Given the description of an element on the screen output the (x, y) to click on. 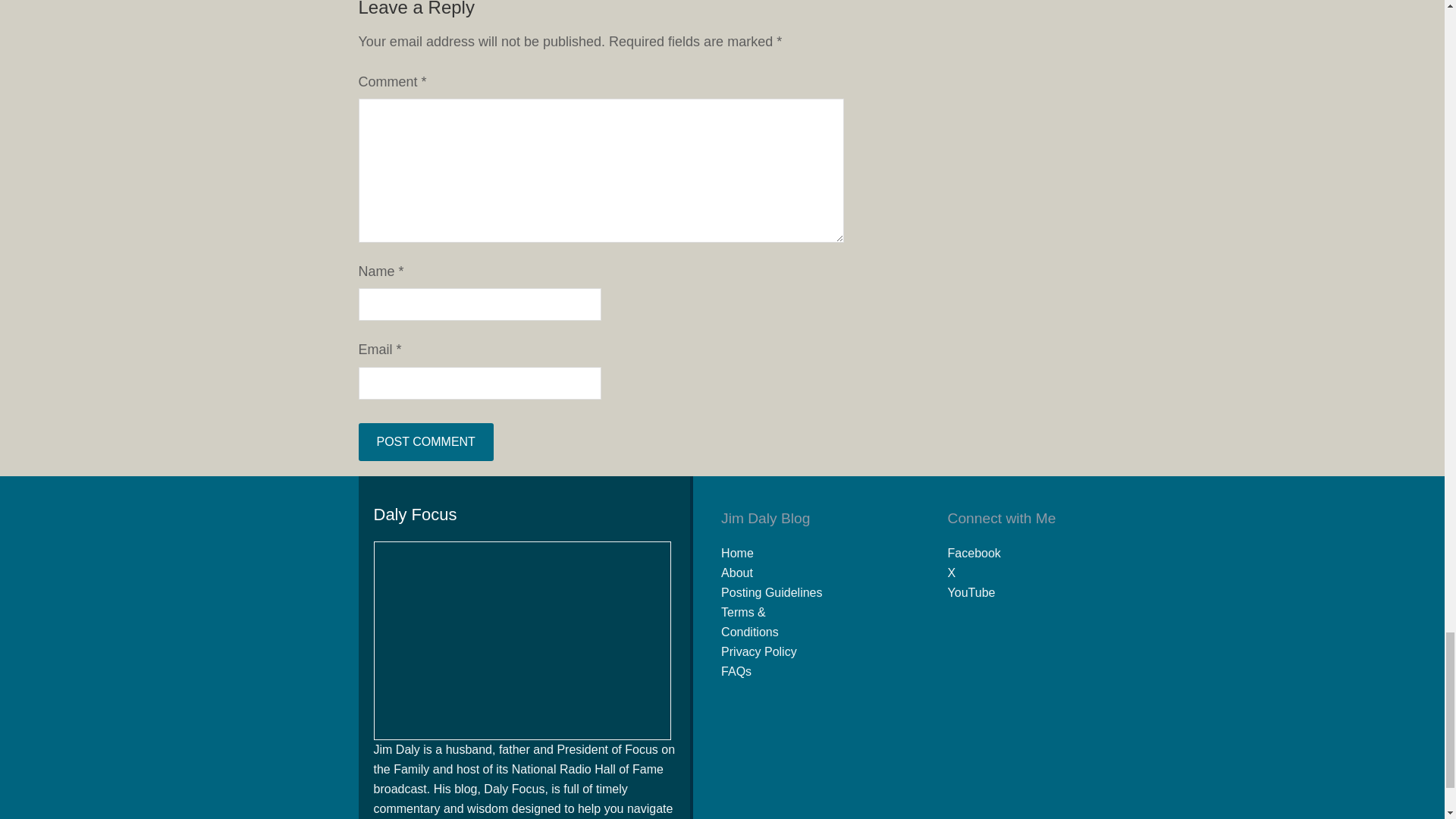
Post Comment (425, 442)
Post Comment (425, 442)
